Given the description of an element on the screen output the (x, y) to click on. 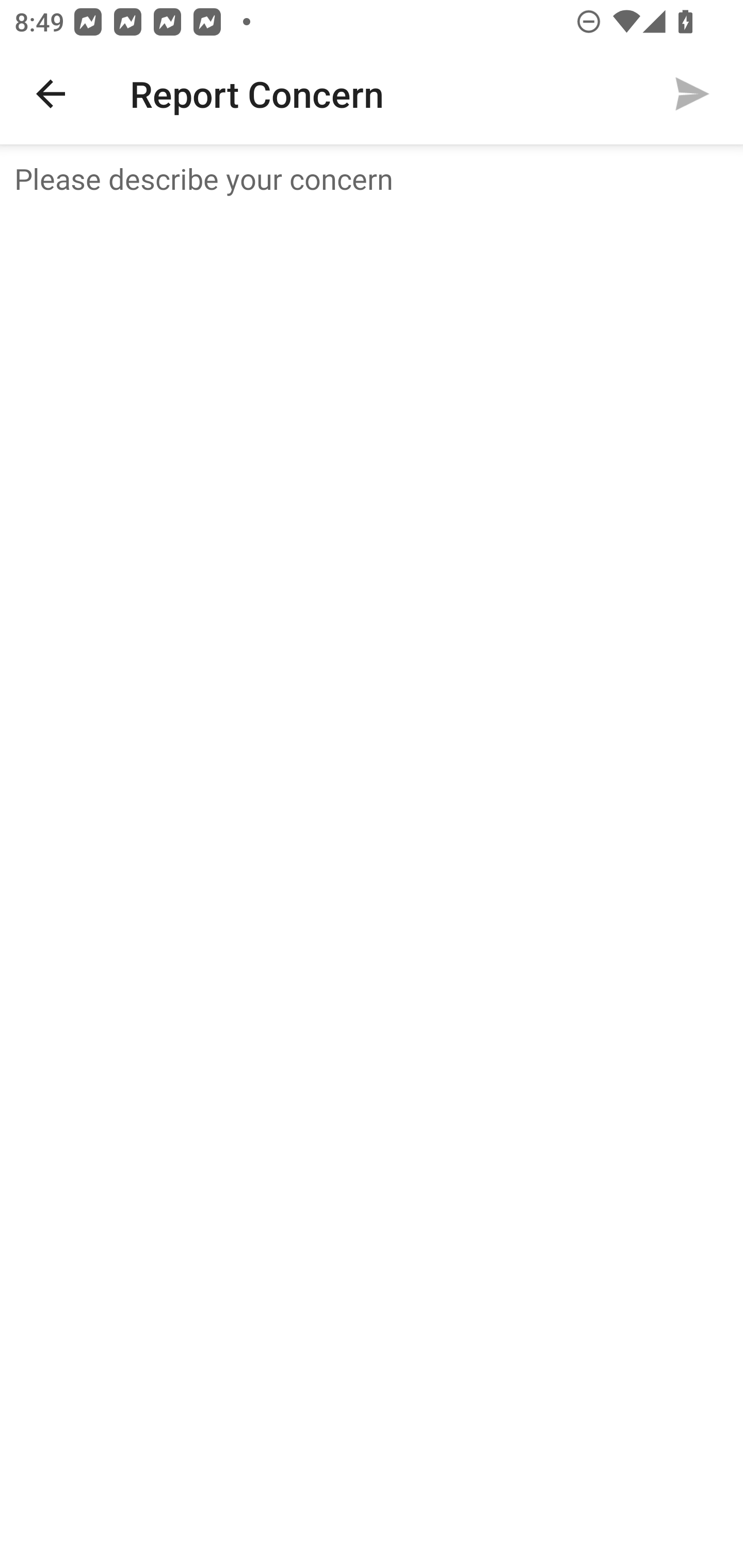
Navigate up (50, 93)
Send (692, 93)
